Given the description of an element on the screen output the (x, y) to click on. 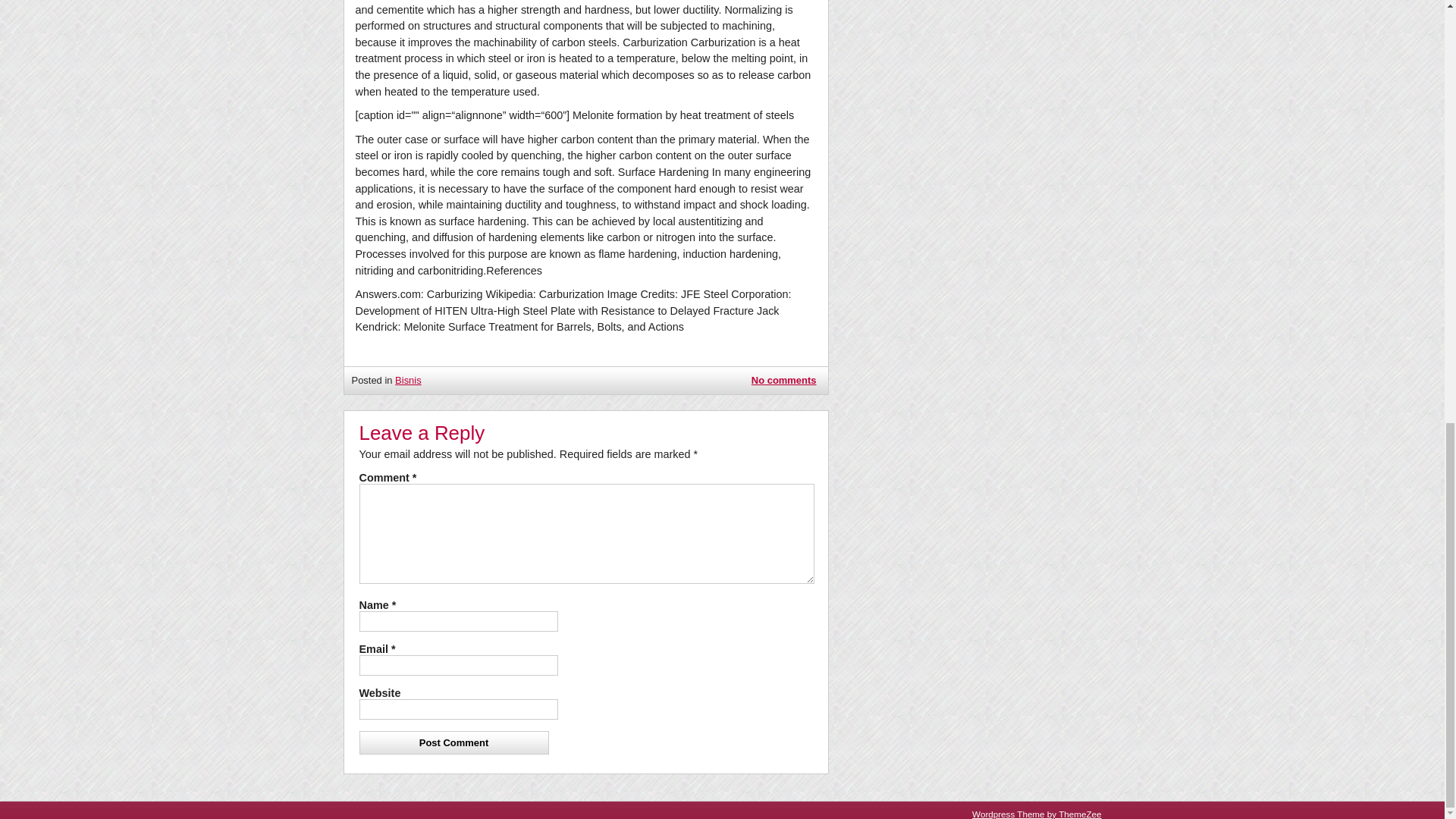
Bisnis (408, 379)
No comments (784, 380)
Post Comment (453, 742)
Post Comment (453, 742)
